Given the description of an element on the screen output the (x, y) to click on. 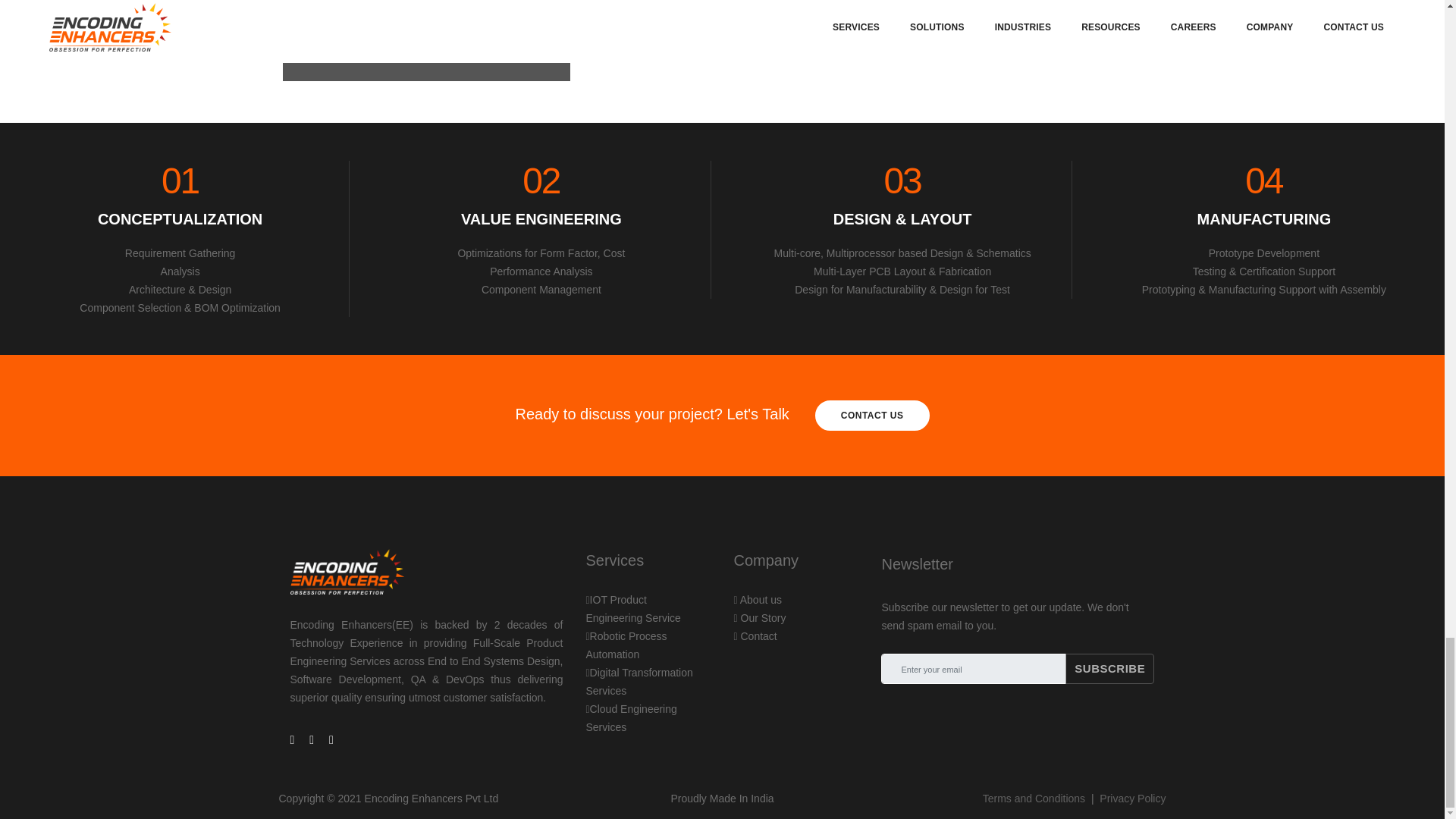
About us (757, 599)
Cloud Engineering Services (631, 717)
CONTACT US (872, 415)
Robotic Process Automation (625, 644)
Digital Transformation Services (632, 608)
